Given the description of an element on the screen output the (x, y) to click on. 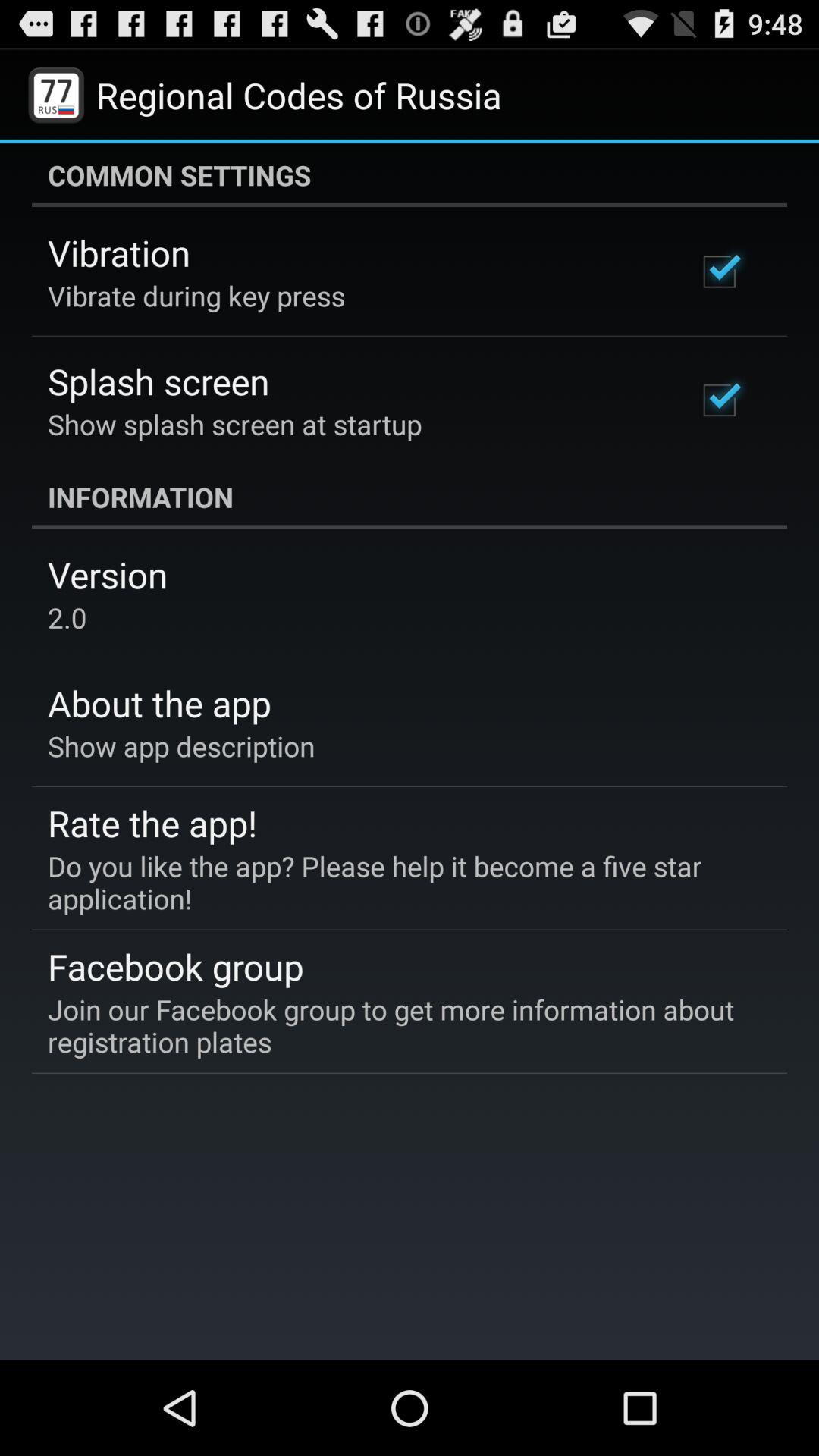
flip until the version (107, 574)
